Given the description of an element on the screen output the (x, y) to click on. 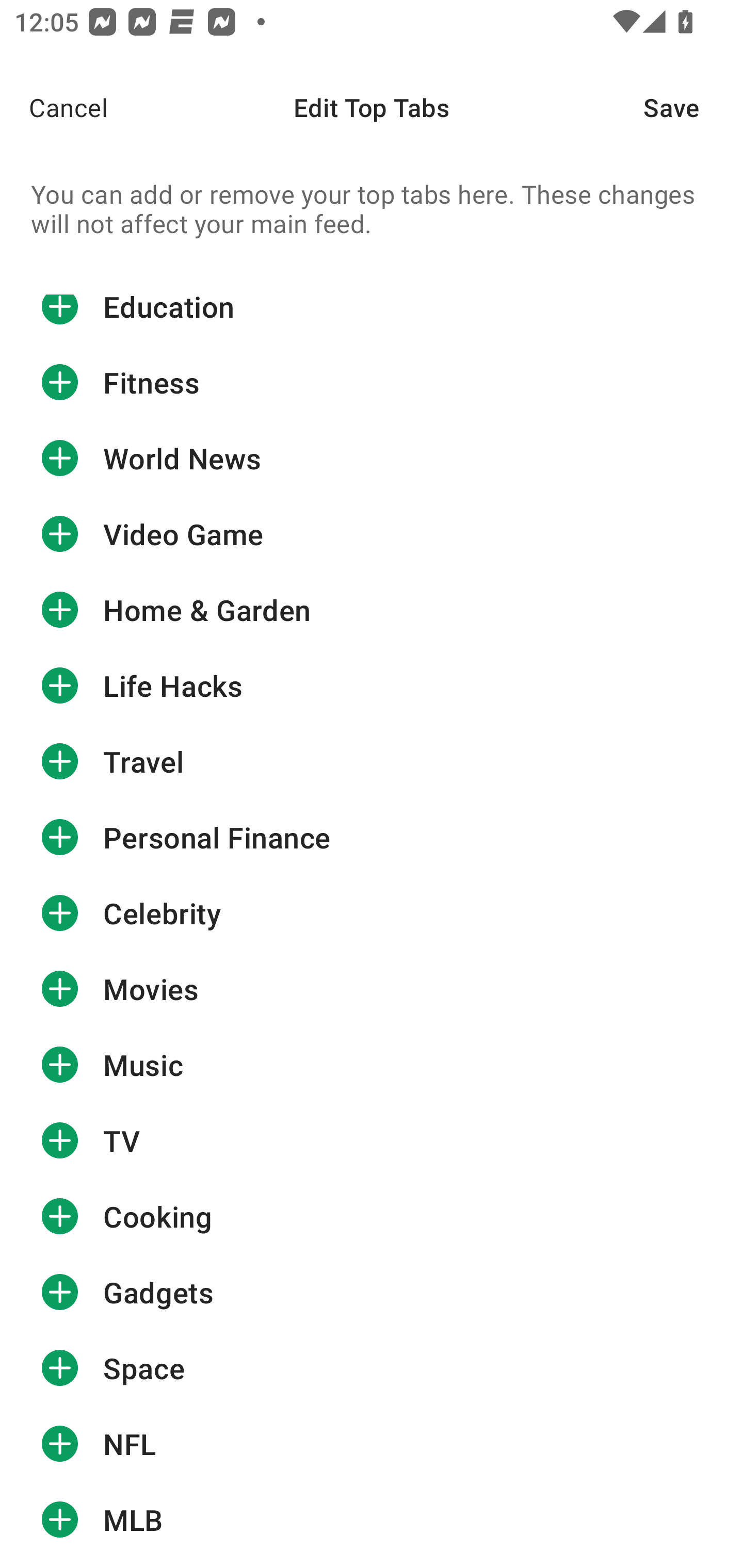
Cancel (53, 106)
Save (693, 106)
Education (371, 319)
Fitness (371, 382)
World News (371, 457)
Video Game (371, 533)
Home & Garden (371, 609)
Life Hacks (371, 685)
Travel (371, 761)
Personal Finance (371, 836)
Celebrity (371, 912)
Movies (371, 989)
Music (371, 1064)
TV (371, 1140)
Cooking (371, 1216)
Gadgets (371, 1291)
Space (371, 1367)
NFL (371, 1443)
MLB (371, 1519)
